Given the description of an element on the screen output the (x, y) to click on. 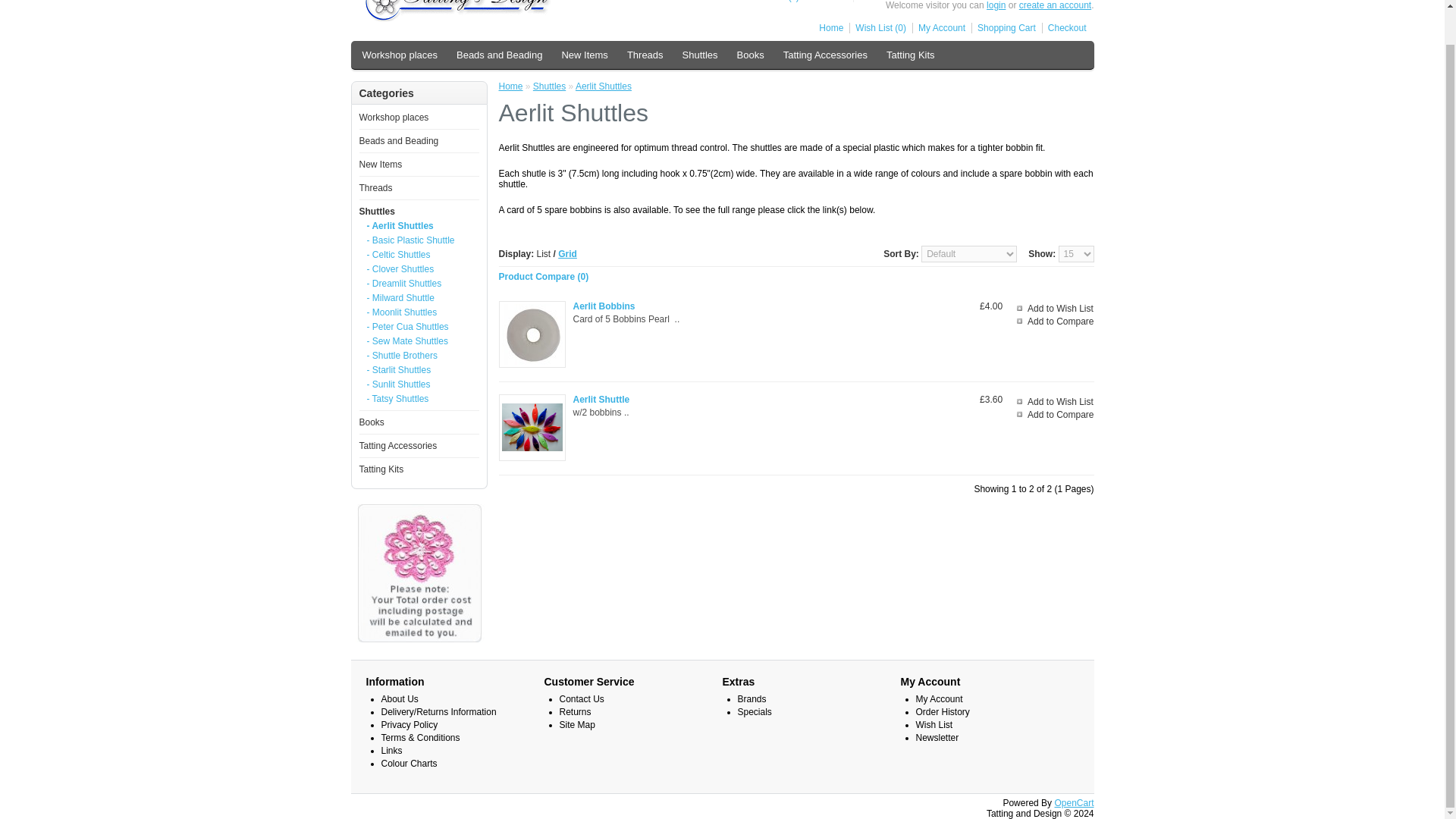
Books (750, 55)
Aerlit Shuttle (532, 427)
Tatting and Design (464, 10)
Shopping Cart (1003, 27)
Checkout (1064, 27)
Postage (418, 573)
Shuttles (700, 55)
Threads (645, 55)
Aerlit Bobbins (532, 334)
My Account (938, 27)
